Given the description of an element on the screen output the (x, y) to click on. 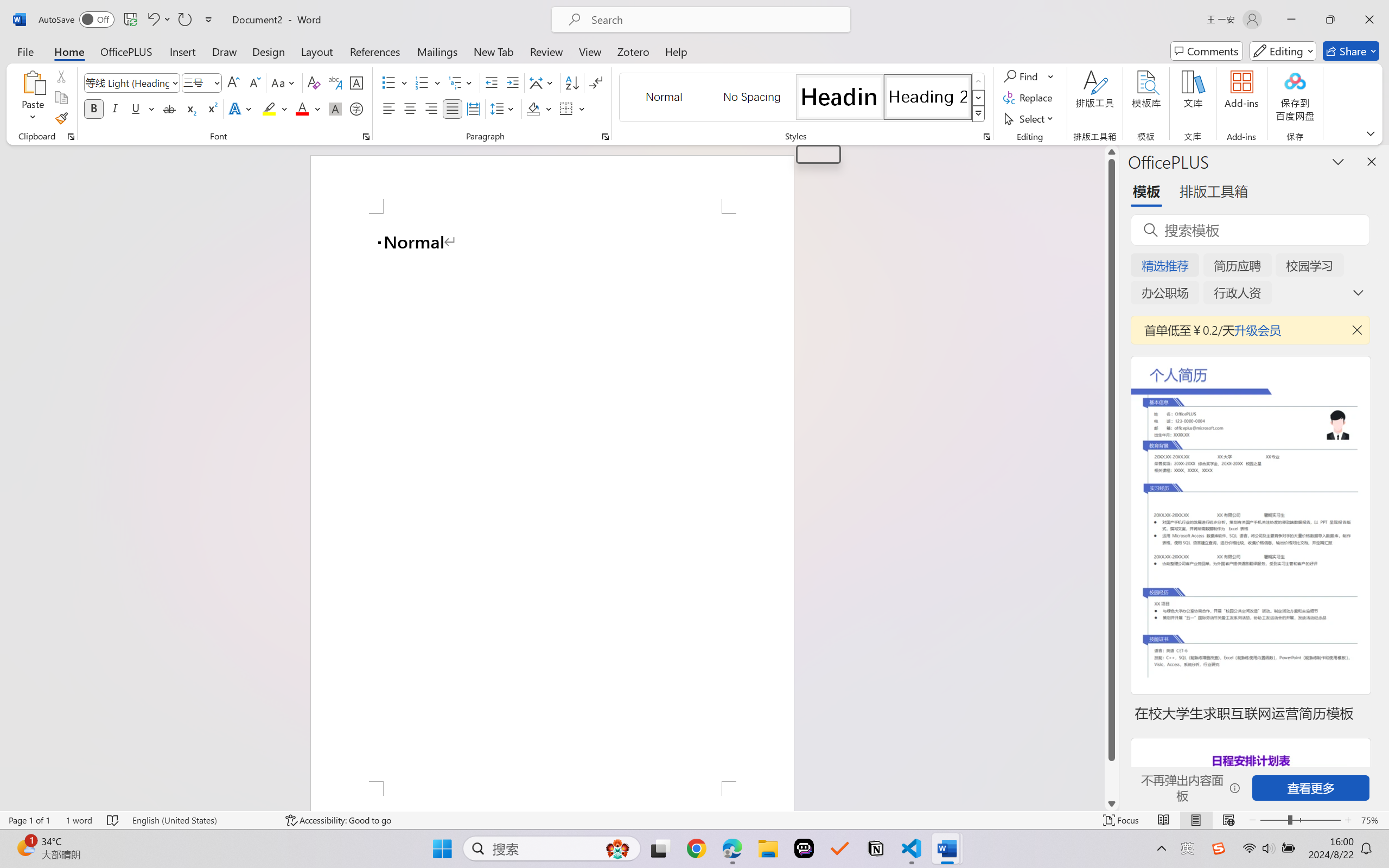
Review (546, 51)
Cut (60, 75)
Page Number Page 1 of 1 (29, 819)
Find (1029, 75)
Justify (452, 108)
Office Clipboard... (70, 136)
Heading 1 (817, 154)
Class: Image (1218, 847)
Line down (1111, 803)
